Given the description of an element on the screen output the (x, y) to click on. 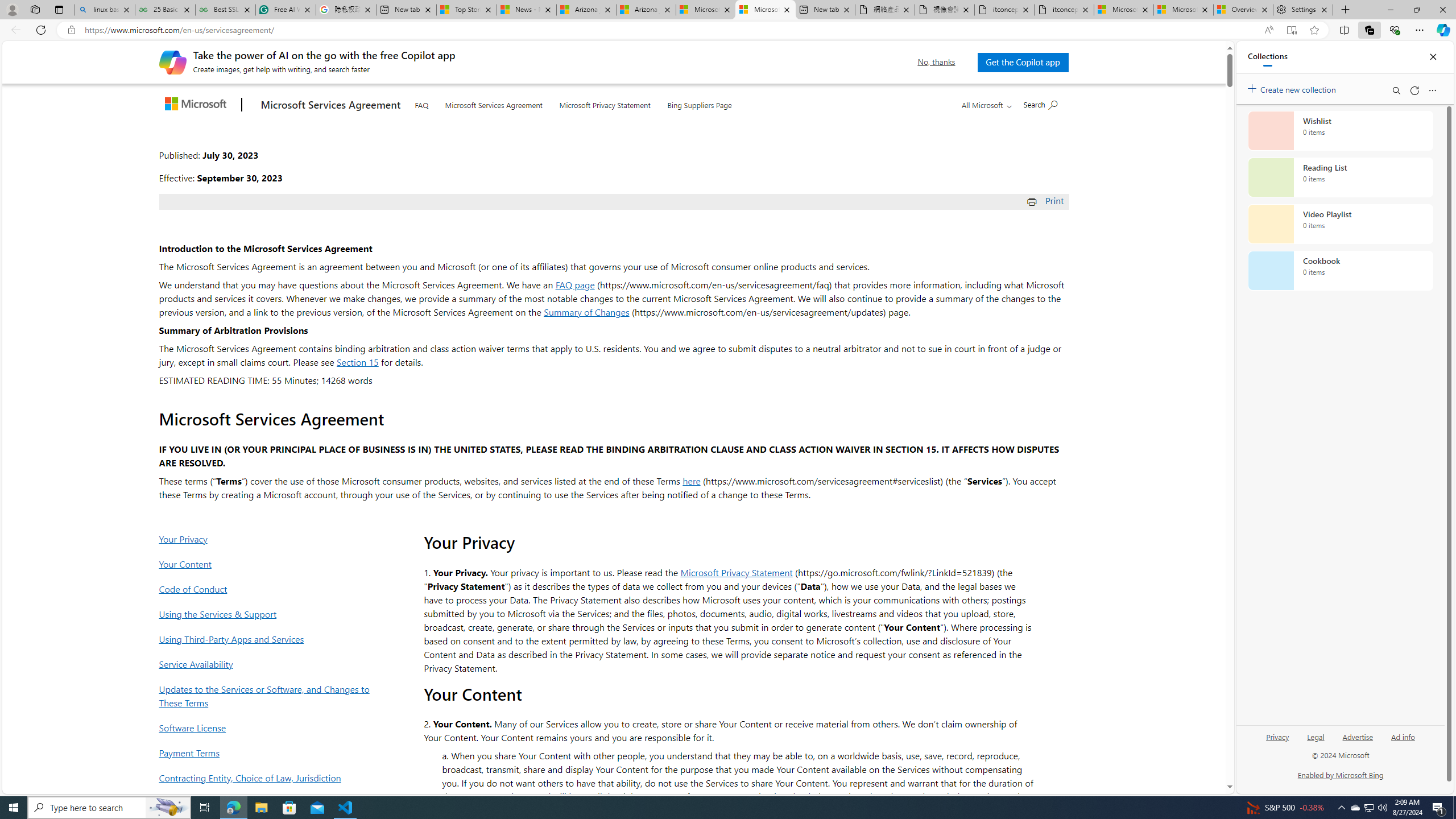
Bing Suppliers Page (699, 103)
Summary of Changes (585, 311)
News - MSN (527, 9)
More options menu (1432, 90)
Bing Suppliers Page (699, 103)
Cookbook collection, 0 items (1339, 270)
